Given the description of an element on the screen output the (x, y) to click on. 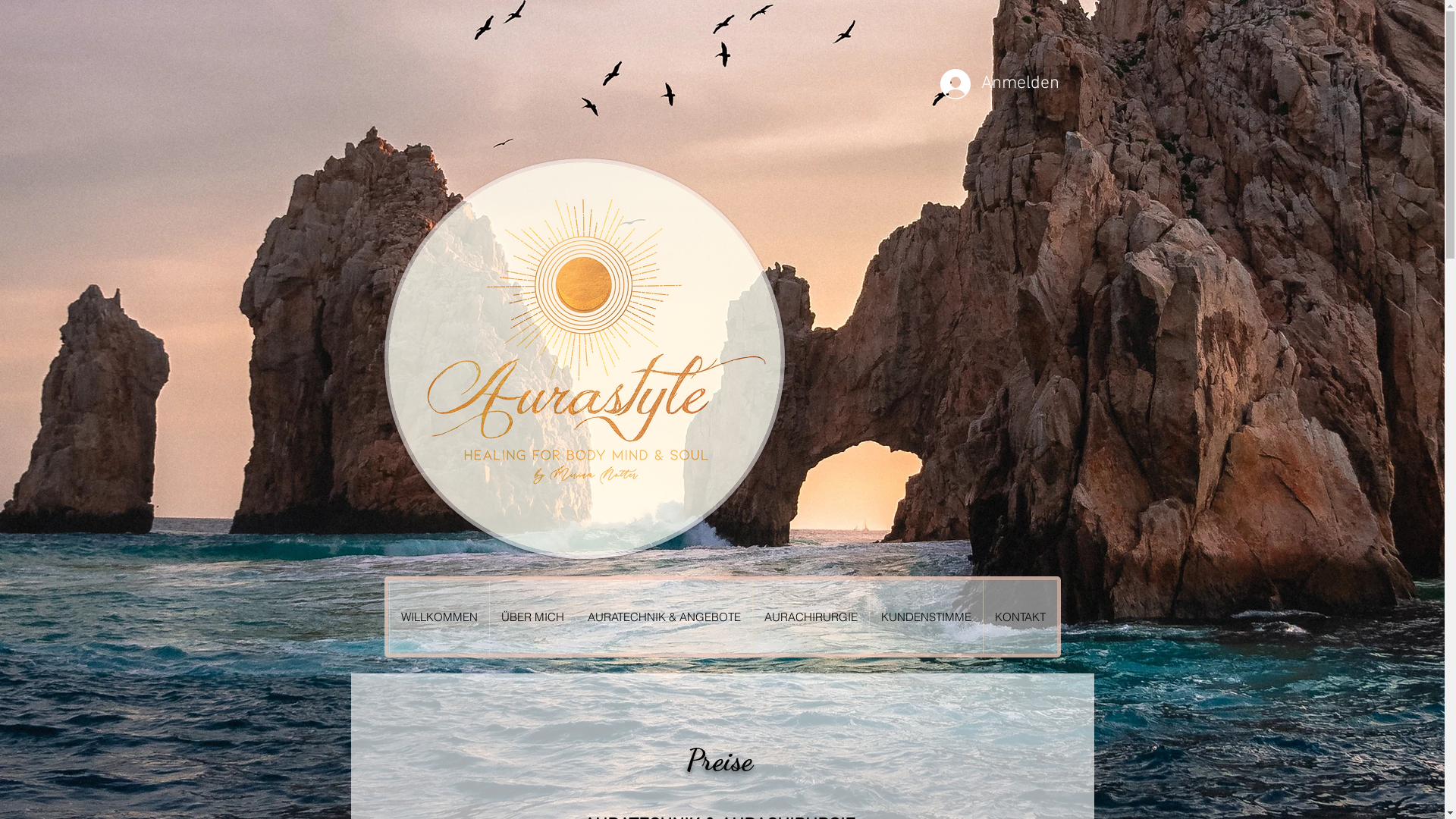
AURACHIRURGIE Element type: text (810, 616)
WILLKOMMEN Element type: text (438, 616)
KUNDENSTIMME Element type: text (925, 616)
Anmelden Element type: text (974, 83)
AURATECHNIK & ANGEBOTE Element type: text (662, 616)
